Given the description of an element on the screen output the (x, y) to click on. 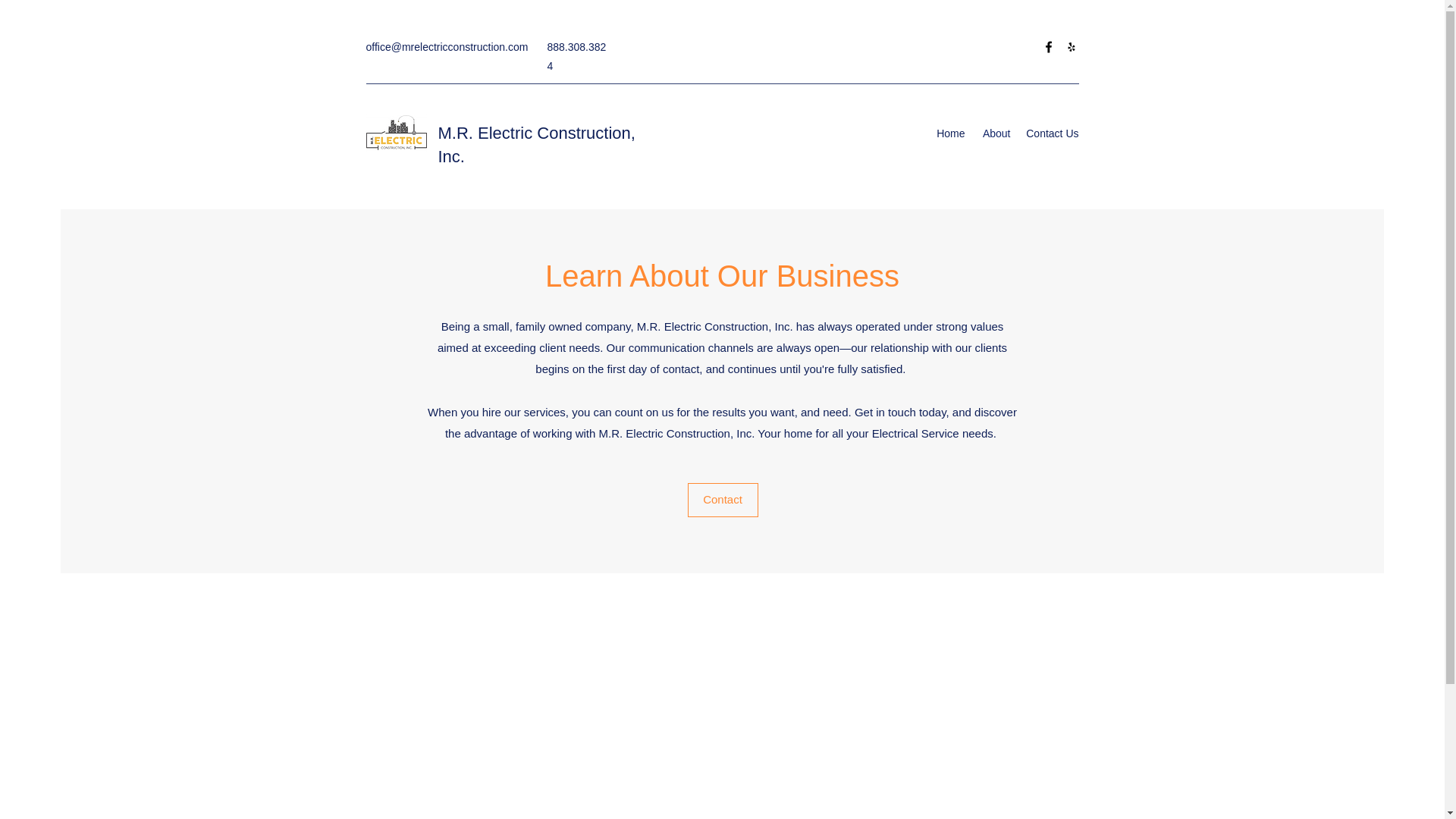
About (994, 133)
Contact Us (1051, 133)
Home (950, 133)
Contact (722, 499)
